Given the description of an element on the screen output the (x, y) to click on. 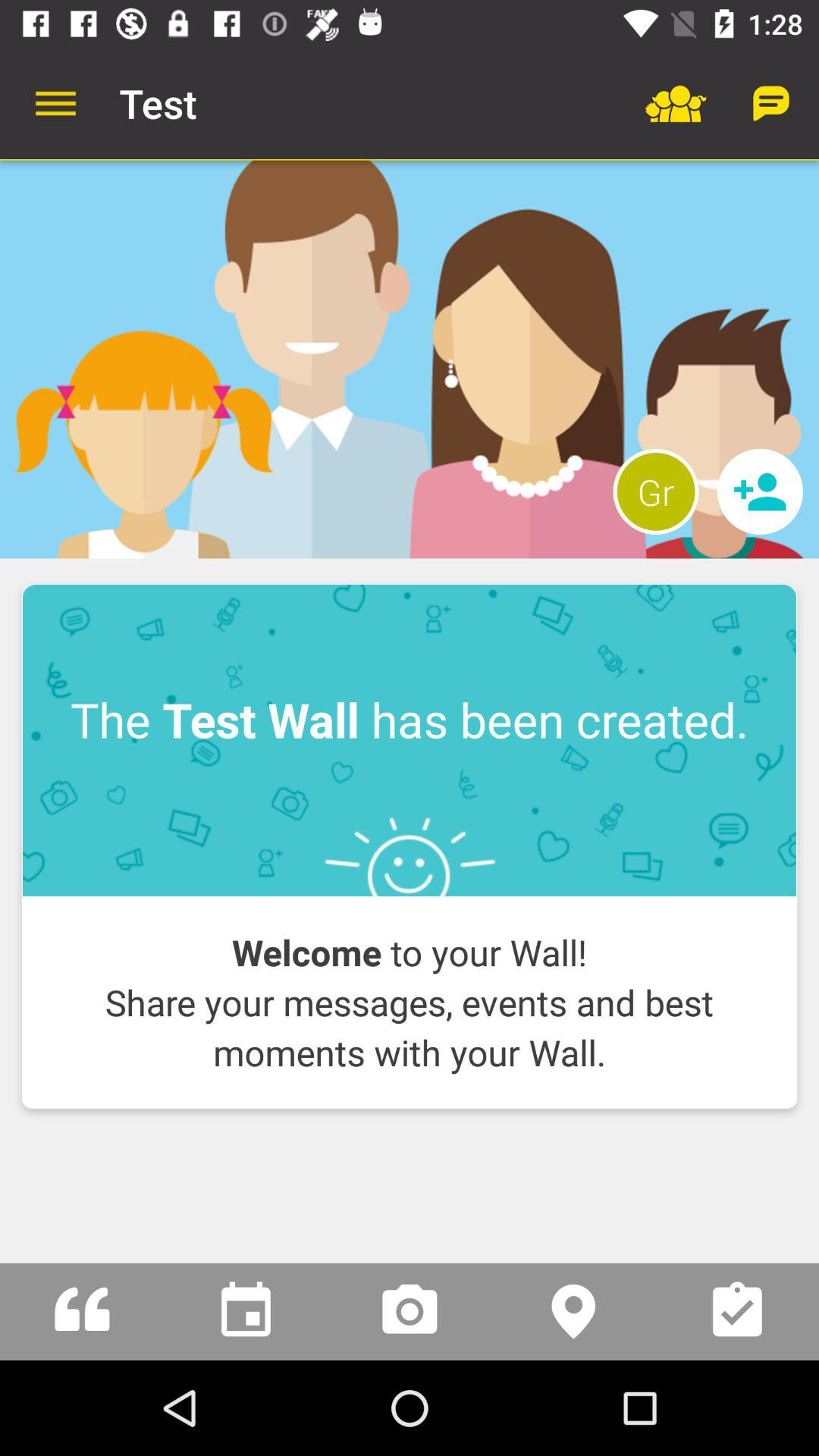
turn off the item at the top (409, 359)
